Given the description of an element on the screen output the (x, y) to click on. 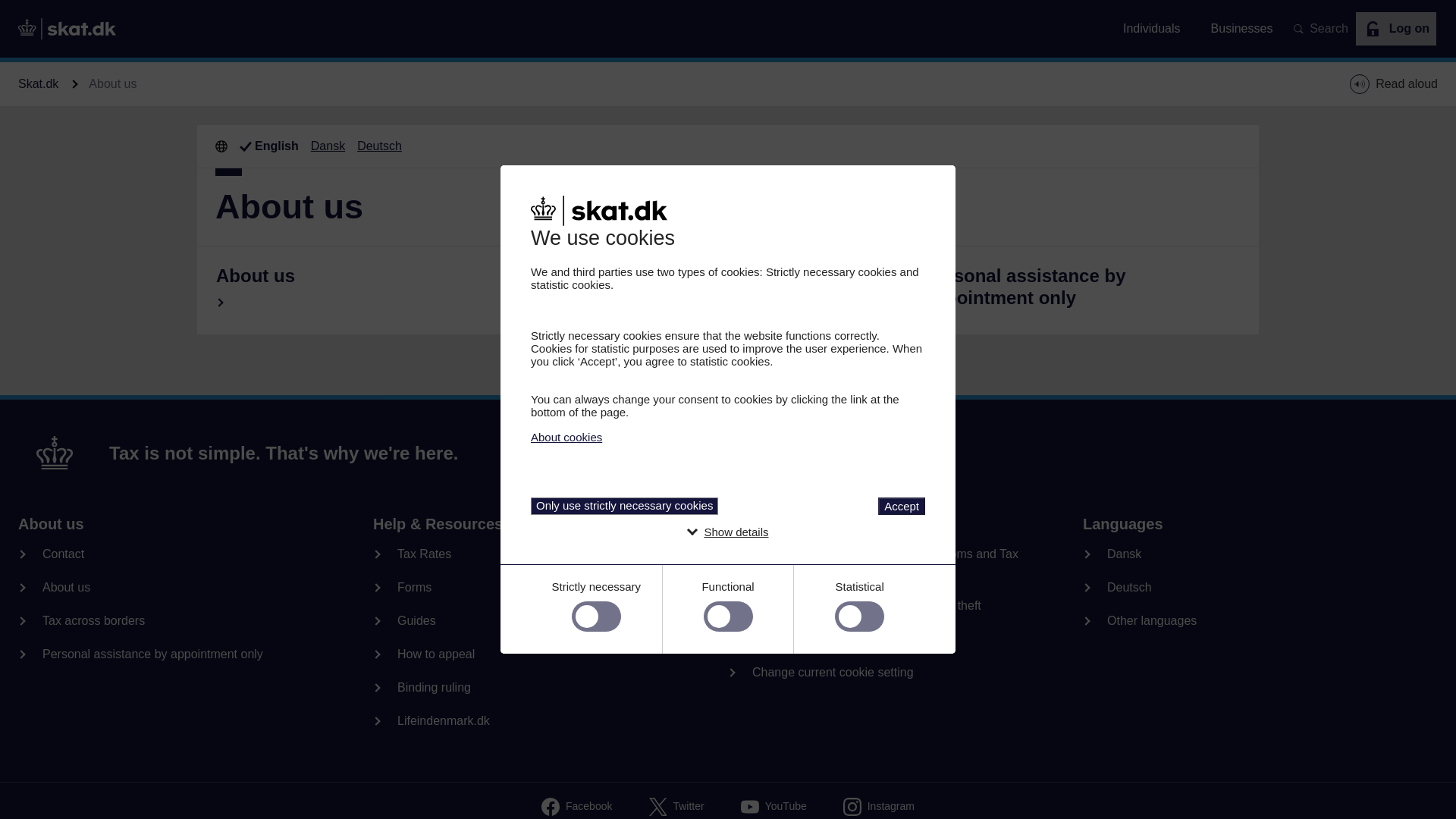
About cookies (566, 436)
Accept (900, 506)
Show details (735, 531)
Only use strictly necessary cookies (624, 506)
